Given the description of an element on the screen output the (x, y) to click on. 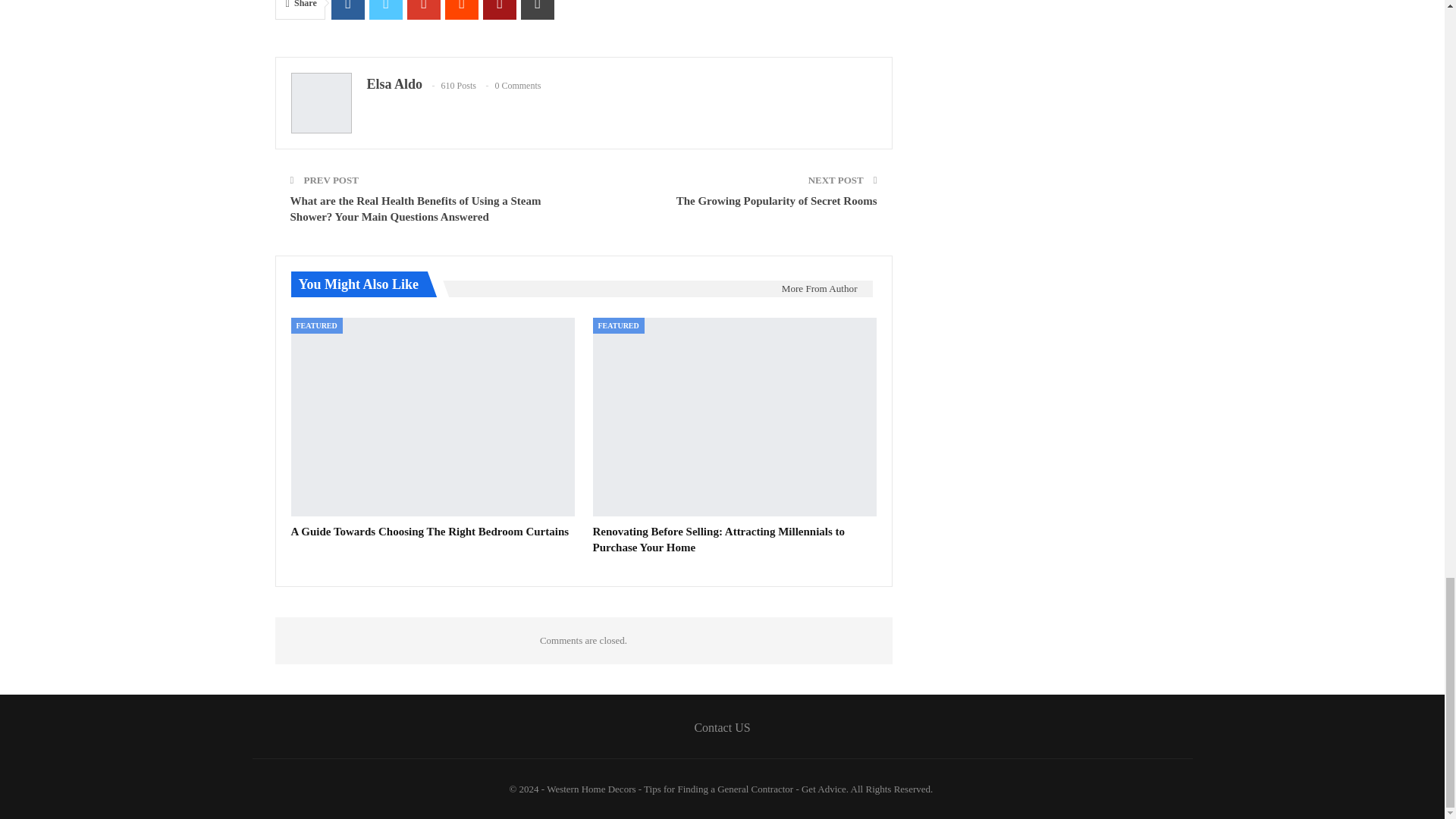
A Guide Towards Choosing The Right Bedroom Curtains (430, 531)
A Guide Towards Choosing The Right Bedroom Curtains (433, 416)
